Given the description of an element on the screen output the (x, y) to click on. 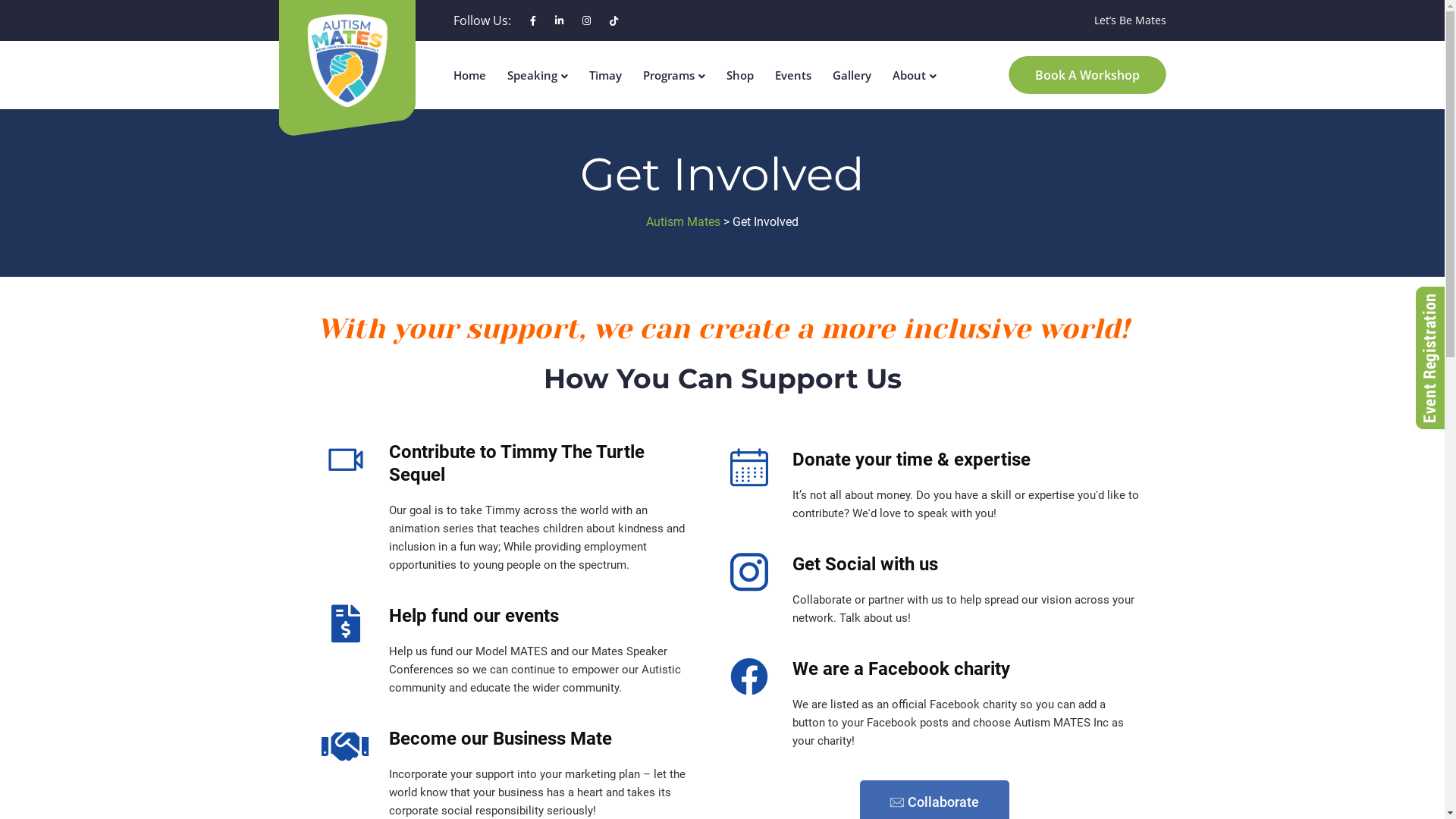
Programs Element type: text (668, 74)
About Element type: text (908, 74)
Timay Element type: text (604, 74)
Gallery Element type: text (851, 74)
Shop Element type: text (739, 74)
Speaking Element type: text (531, 74)
Events Element type: text (793, 74)
Book A Workshop Element type: text (1087, 73)
Home Element type: text (469, 74)
Autism Mates Element type: text (683, 221)
